Given the description of an element on the screen output the (x, y) to click on. 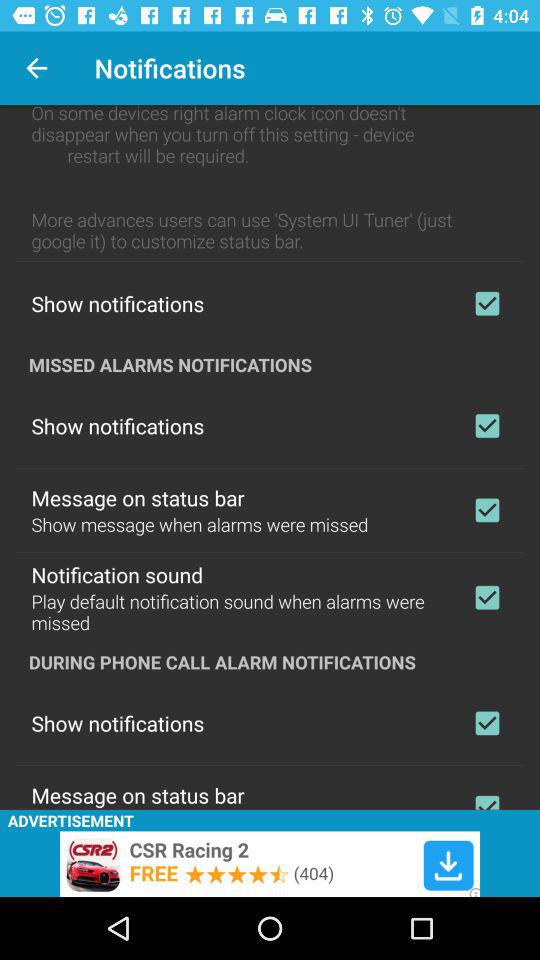
toggle notifications (487, 303)
